Given the description of an element on the screen output the (x, y) to click on. 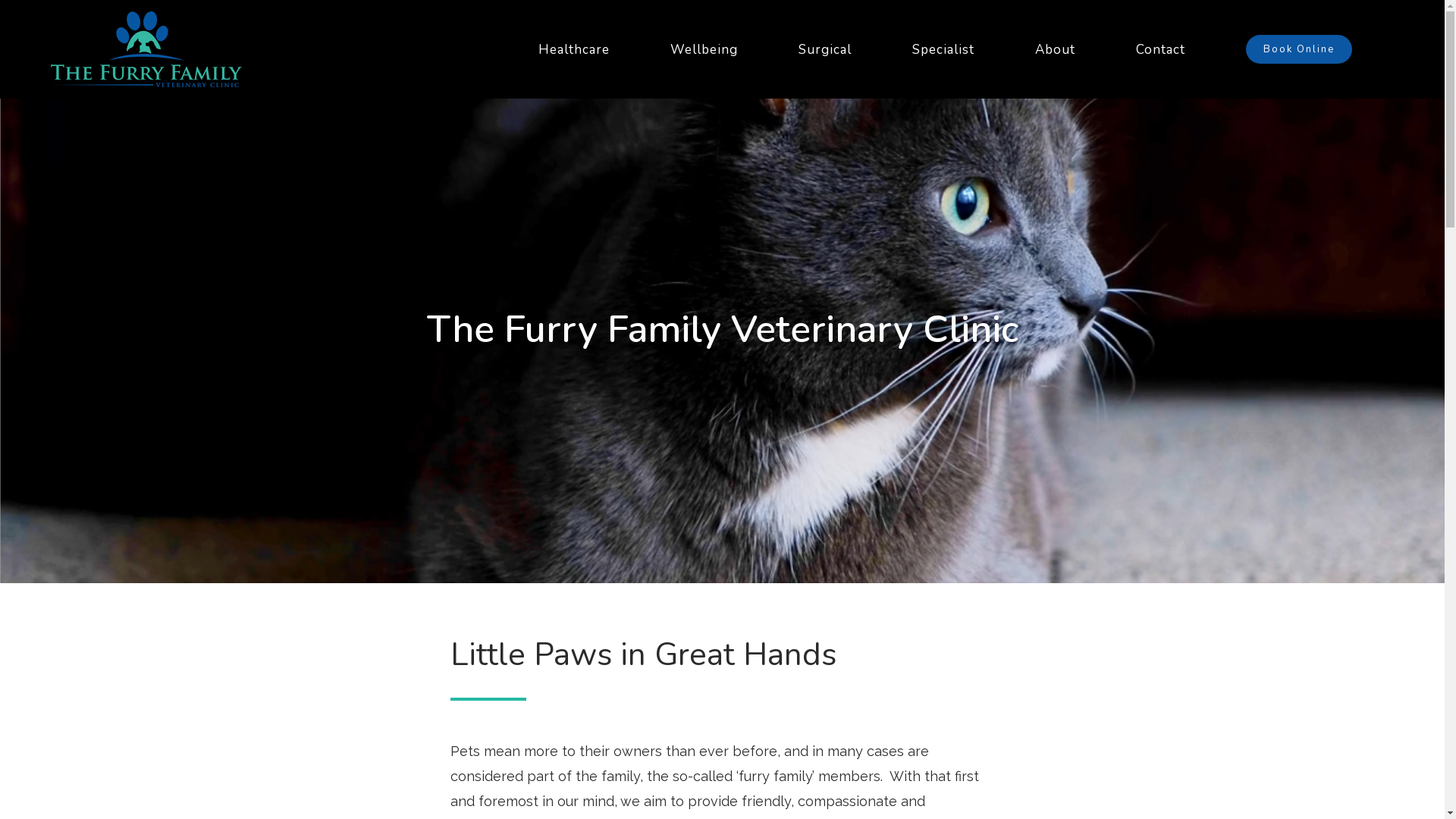
About Element type: text (1055, 49)
Healthcare Element type: text (573, 49)
Specialist Element type: text (943, 49)
Surgical Element type: text (824, 49)
Contact Element type: text (1160, 49)
Wellbeing Element type: text (703, 49)
Book Online Element type: text (1298, 49)
